Given the description of an element on the screen output the (x, y) to click on. 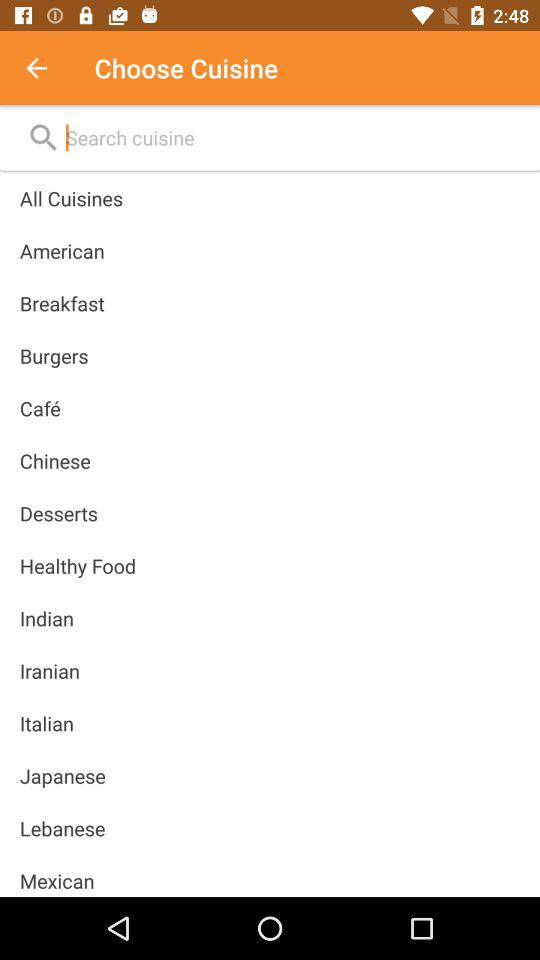
turn on the icon above burgers item (61, 303)
